Given the description of an element on the screen output the (x, y) to click on. 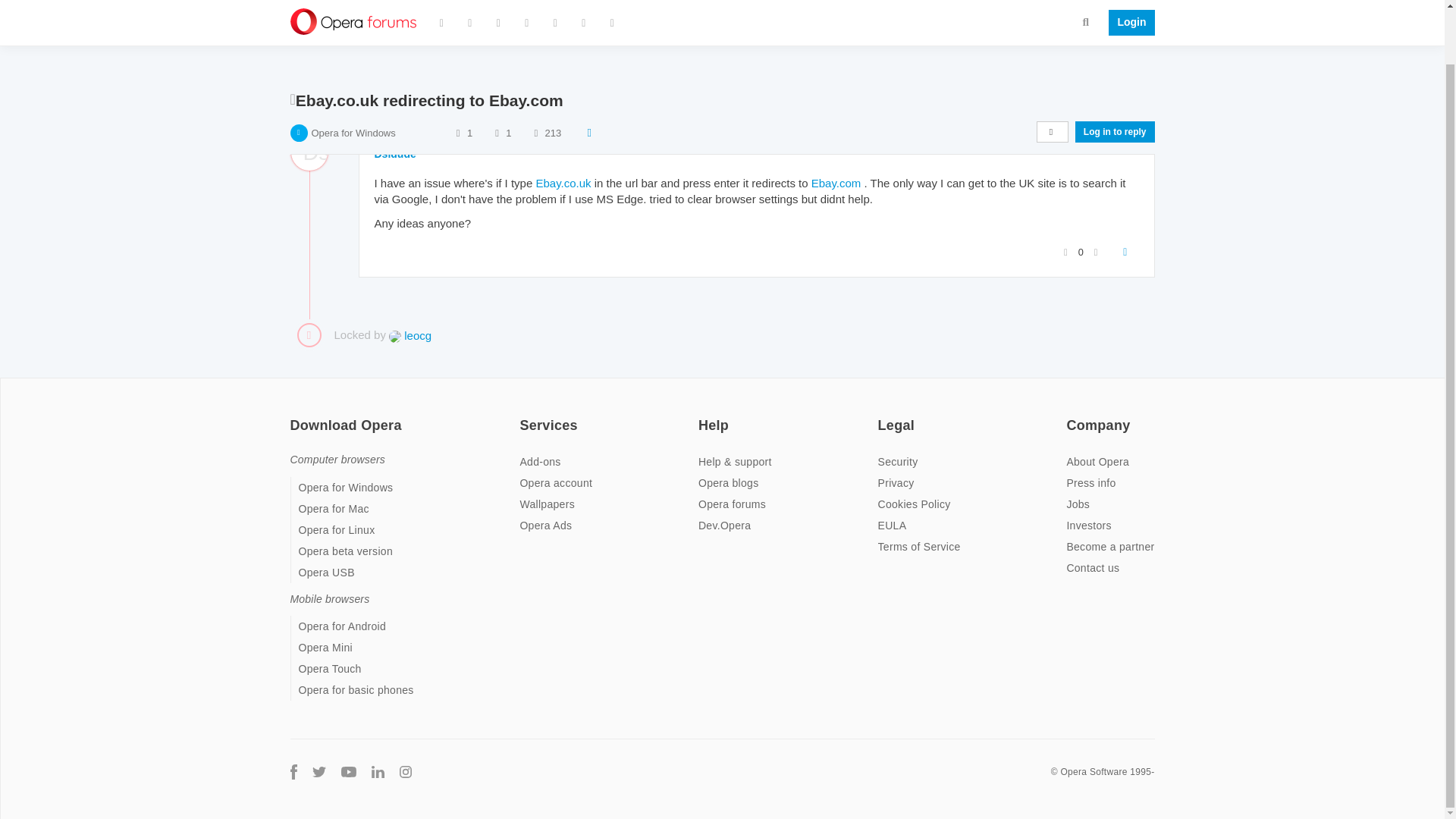
Posts (496, 97)
on (881, 415)
Opera for Windows (352, 97)
Ebay.co.uk (563, 182)
Log in to reply (1114, 96)
Ebay.com (835, 182)
Dsldude (395, 153)
Posters (457, 97)
on (523, 415)
on (702, 415)
